Given the description of an element on the screen output the (x, y) to click on. 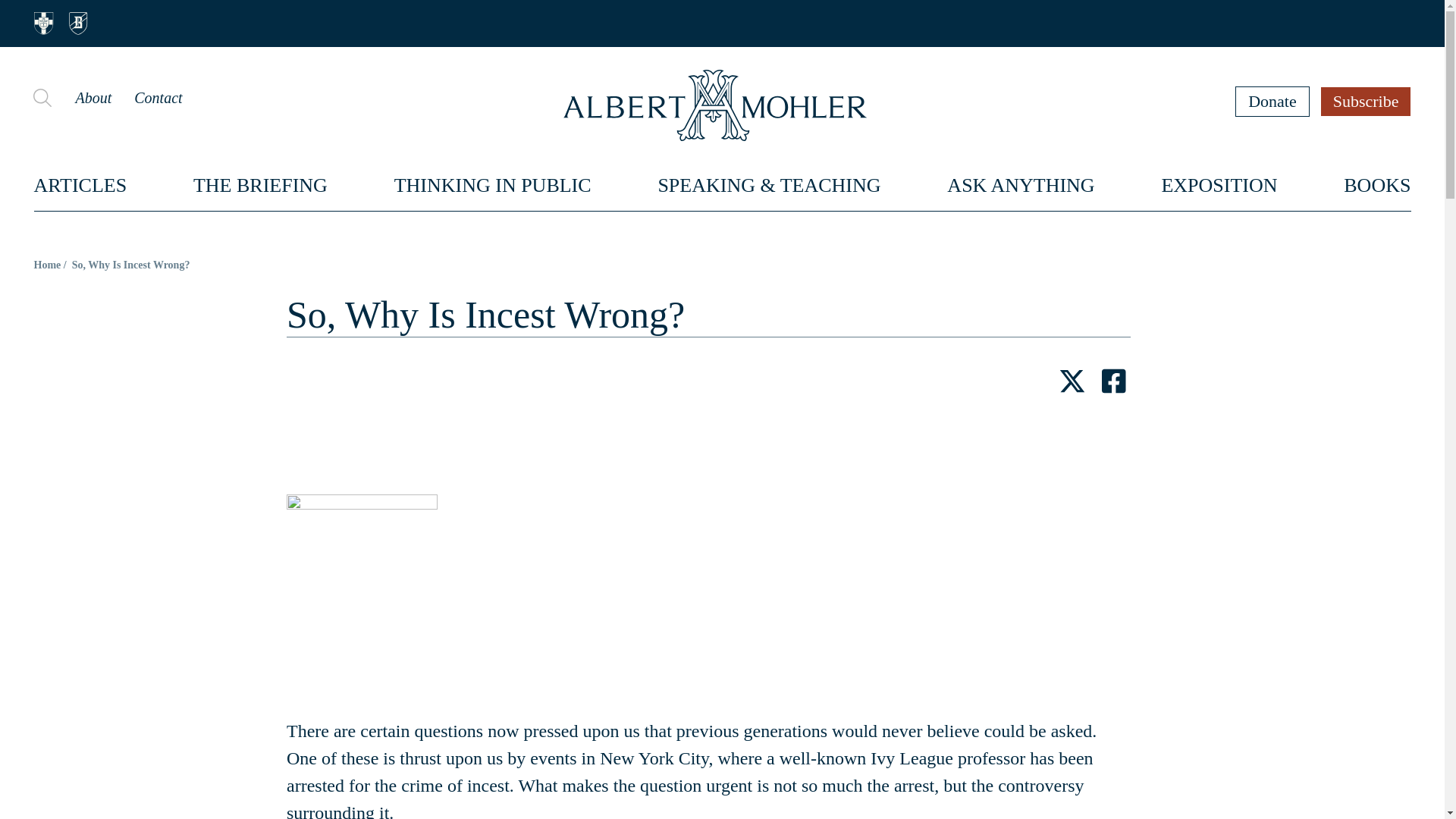
Subscribe (1366, 101)
ASK ANYTHING (1020, 185)
THE BRIEFING (260, 185)
THINKING IN PUBLIC (492, 185)
Home (47, 264)
Contact (157, 97)
Donate (1272, 101)
EXPOSITION (1218, 185)
About (93, 97)
ARTICLES (79, 185)
BOOKS (1376, 185)
